Given the description of an element on the screen output the (x, y) to click on. 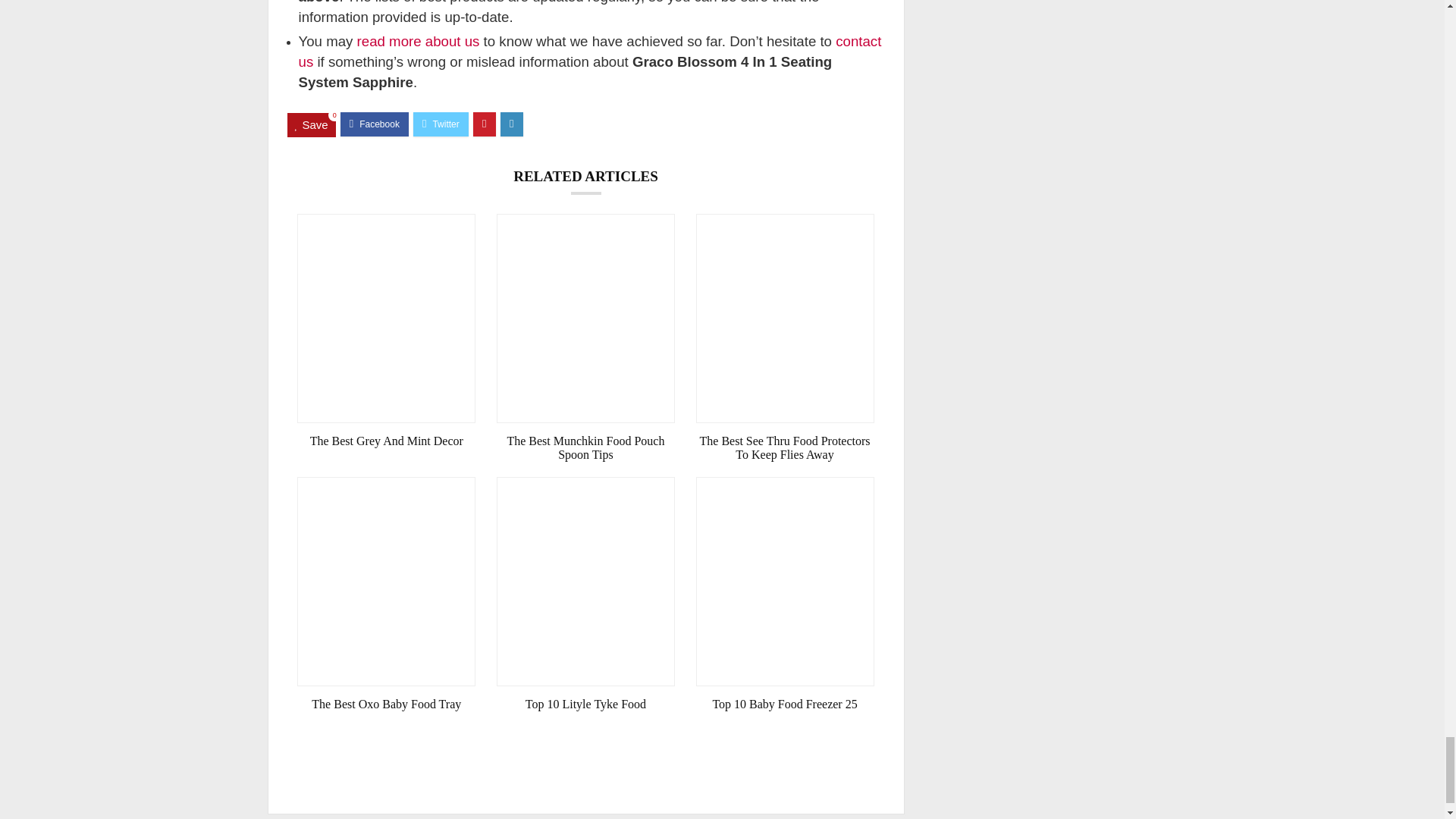
The Best Munchkin Food Pouch Spoon Tips (585, 447)
Top 10 Lityle Tyke Food (585, 704)
The Best See Thru Food Protectors To Keep Flies Away (785, 447)
The Best Oxo Baby Food Tray (386, 704)
Top 10 Baby Food Freezer 25 (785, 704)
The Best Grey And Mint Decor (386, 440)
